Given the description of an element on the screen output the (x, y) to click on. 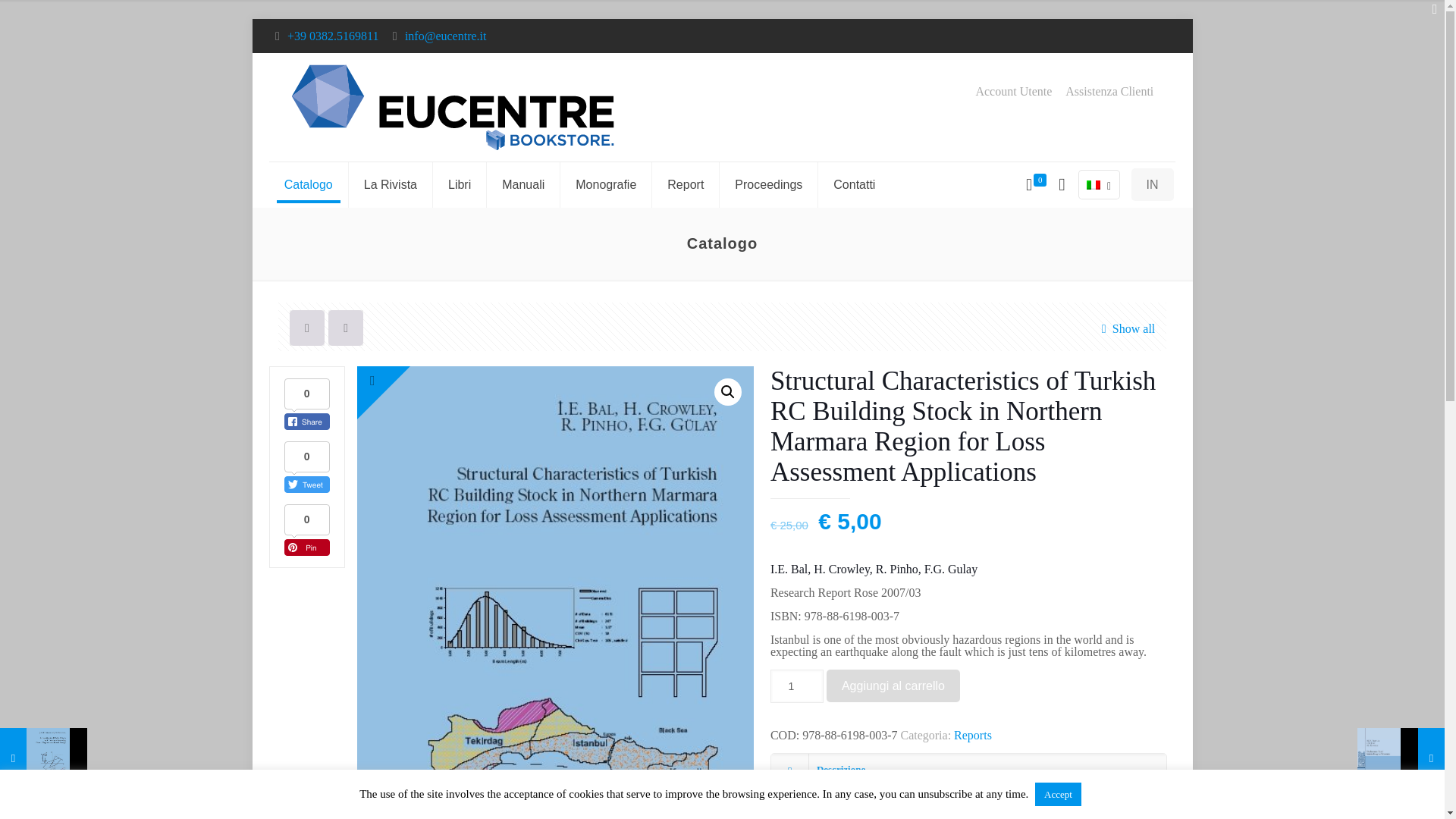
Catalogo (309, 185)
BookStore.Eucentre (453, 107)
1 (797, 685)
La Rivista (390, 185)
